Given the description of an element on the screen output the (x, y) to click on. 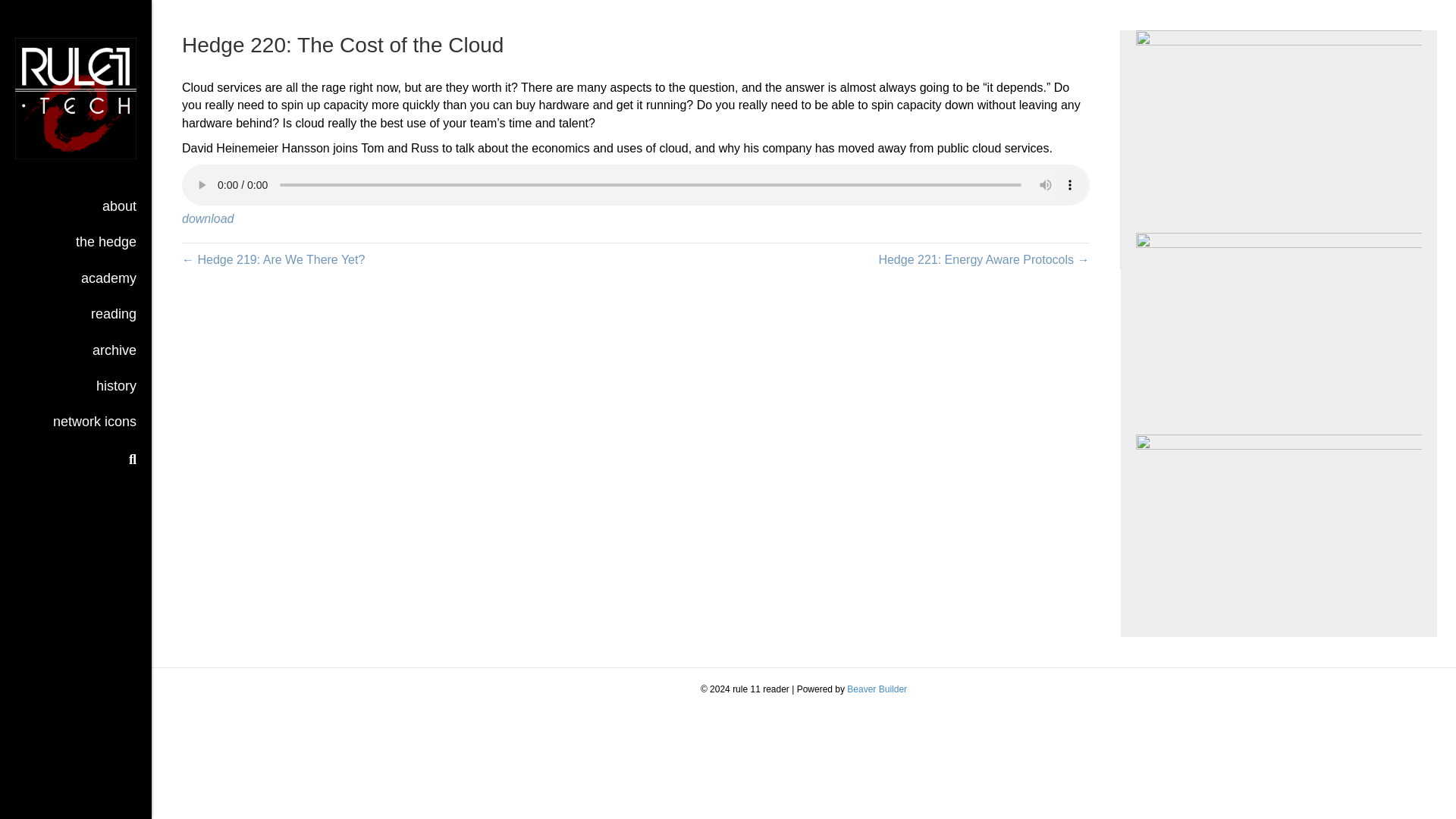
about (119, 212)
download (208, 218)
Beaver Builder (877, 688)
WordPress Page Builder Plugin (877, 688)
the hedge (106, 247)
network icons (94, 427)
history (116, 391)
archive (114, 356)
academy (108, 284)
reading (113, 319)
